Given the description of an element on the screen output the (x, y) to click on. 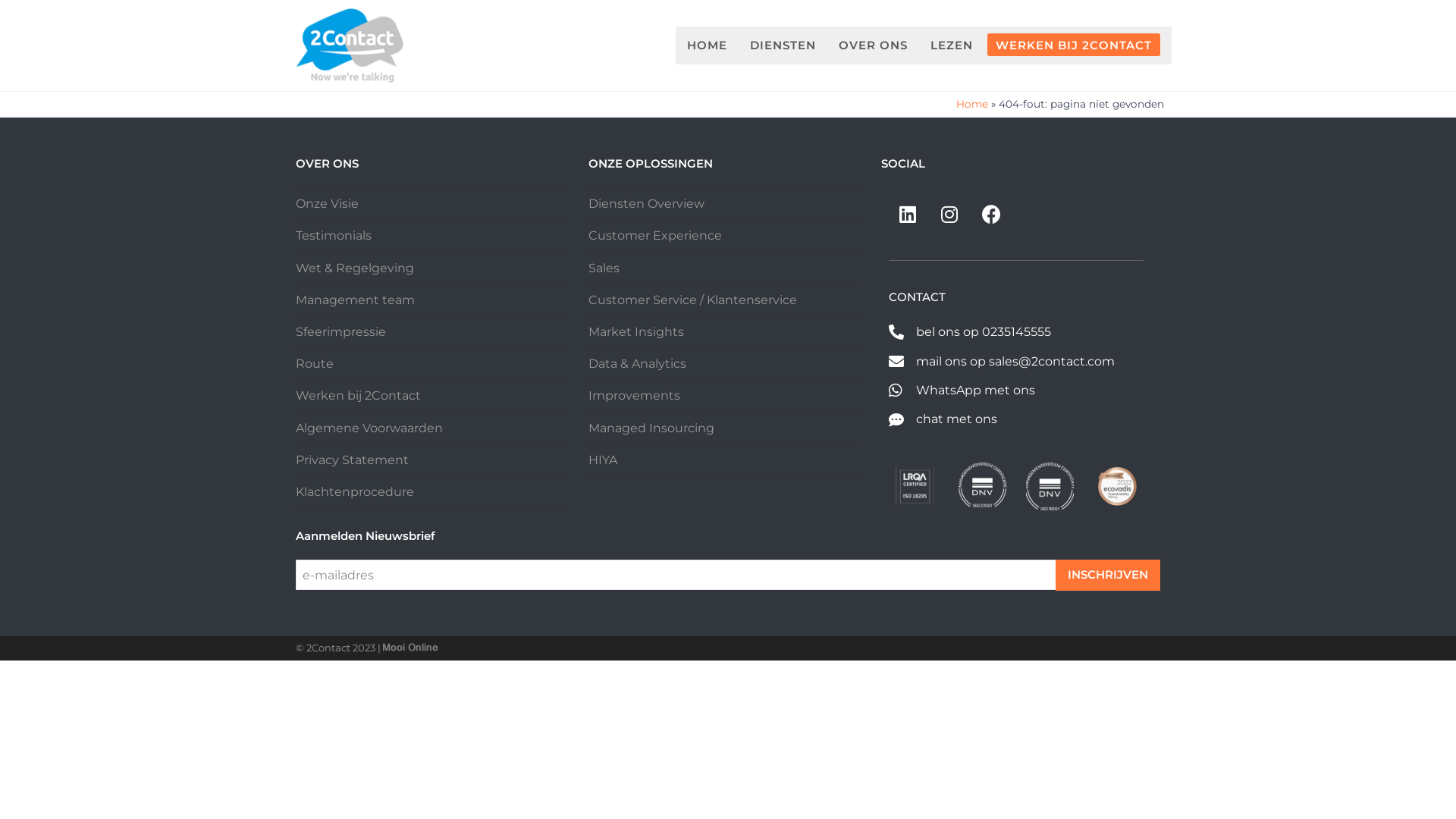
HIYA Element type: text (602, 459)
Route Element type: text (314, 363)
Market Insights Element type: text (636, 331)
Wet & Regelgeving Element type: text (354, 267)
Managed Insourcing Element type: text (651, 427)
INSCHRIJVEN Element type: text (1107, 574)
Sfeerimpressie Element type: text (340, 331)
WhatsApp met ons Element type: text (1015, 390)
Customer Service / Klantenservice Element type: text (692, 299)
mail ons op sales@2contact.com Element type: text (1015, 361)
Improvements Element type: text (634, 395)
Testimonials Element type: text (333, 235)
bel ons op 0235145555 Element type: text (1015, 332)
Klachtenprocedure Element type: text (354, 491)
Onze Visie Element type: text (326, 203)
Data & Analytics Element type: text (637, 363)
HOME Element type: text (706, 45)
LEZEN Element type: text (951, 45)
WERKEN BIJ 2CONTACT Element type: text (1073, 45)
Customer Experience Element type: text (654, 235)
OVER ONS Element type: text (873, 45)
Diensten Overview Element type: text (646, 203)
Home Element type: text (972, 103)
Algemene Voorwaarden Element type: text (368, 427)
Sales Element type: text (603, 267)
Werken bij 2Contact Element type: text (357, 395)
ManagementsysteemCertificatie.ISO9001-diap Element type: hover (1049, 486)
DIENSTEN Element type: text (782, 45)
Privacy Statement Element type: text (351, 459)
Management team Element type: text (354, 299)
